Given the description of an element on the screen output the (x, y) to click on. 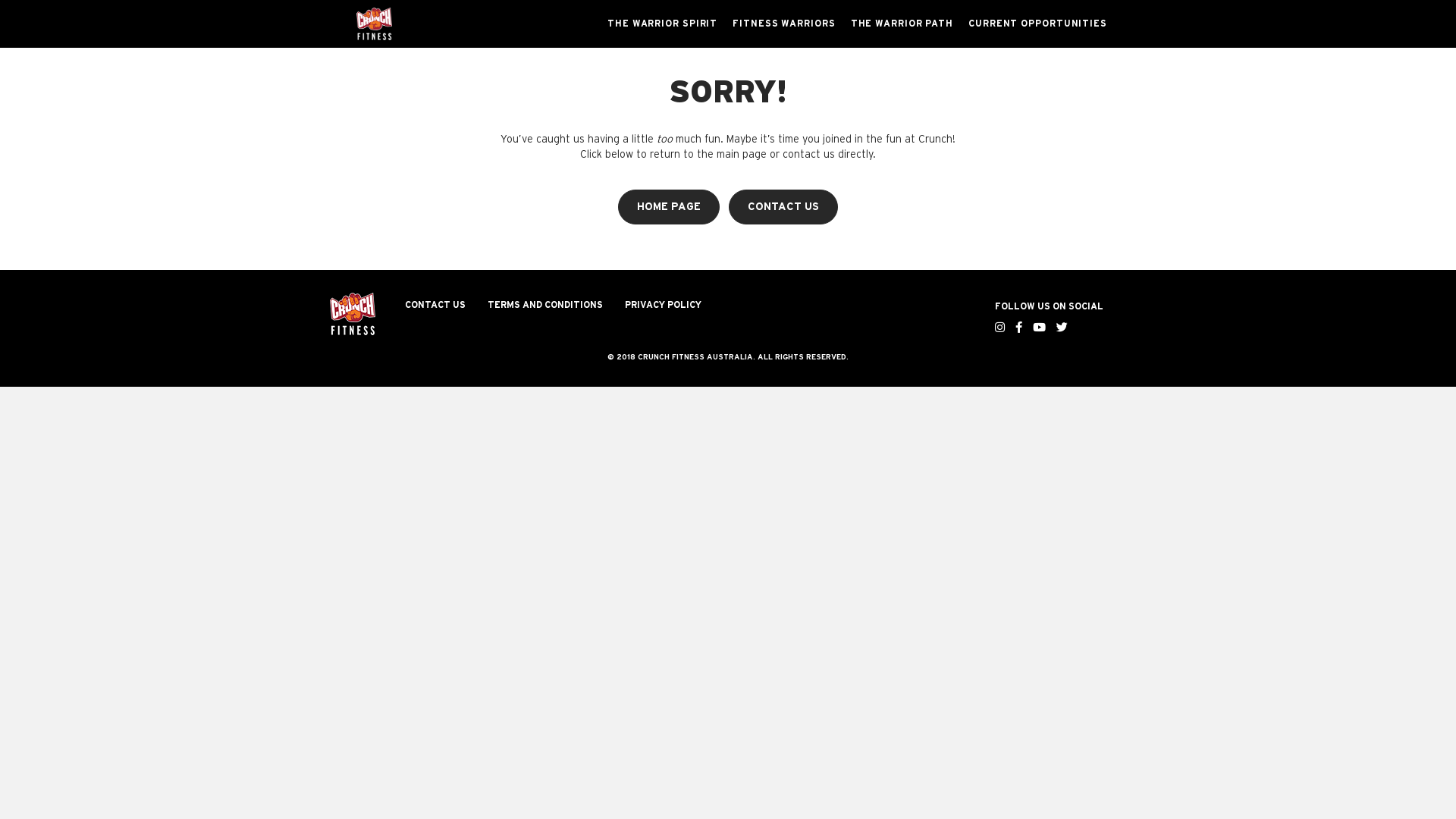
HOME PAGE Element type: text (668, 206)
THE WARRIOR PATH Element type: text (901, 23)
CONTACT US Element type: text (782, 206)
Crunch Fitness Element type: hover (352, 313)
CONTACT US Element type: text (435, 304)
PRIVACY POLICY Element type: text (663, 304)
CURRENT OPPORTUNITIES Element type: text (1037, 23)
FITNESS WARRIORS Element type: text (783, 23)
TERMS AND CONDITIONS Element type: text (544, 304)
THE WARRIOR SPIRIT Element type: text (661, 23)
